Given the description of an element on the screen output the (x, y) to click on. 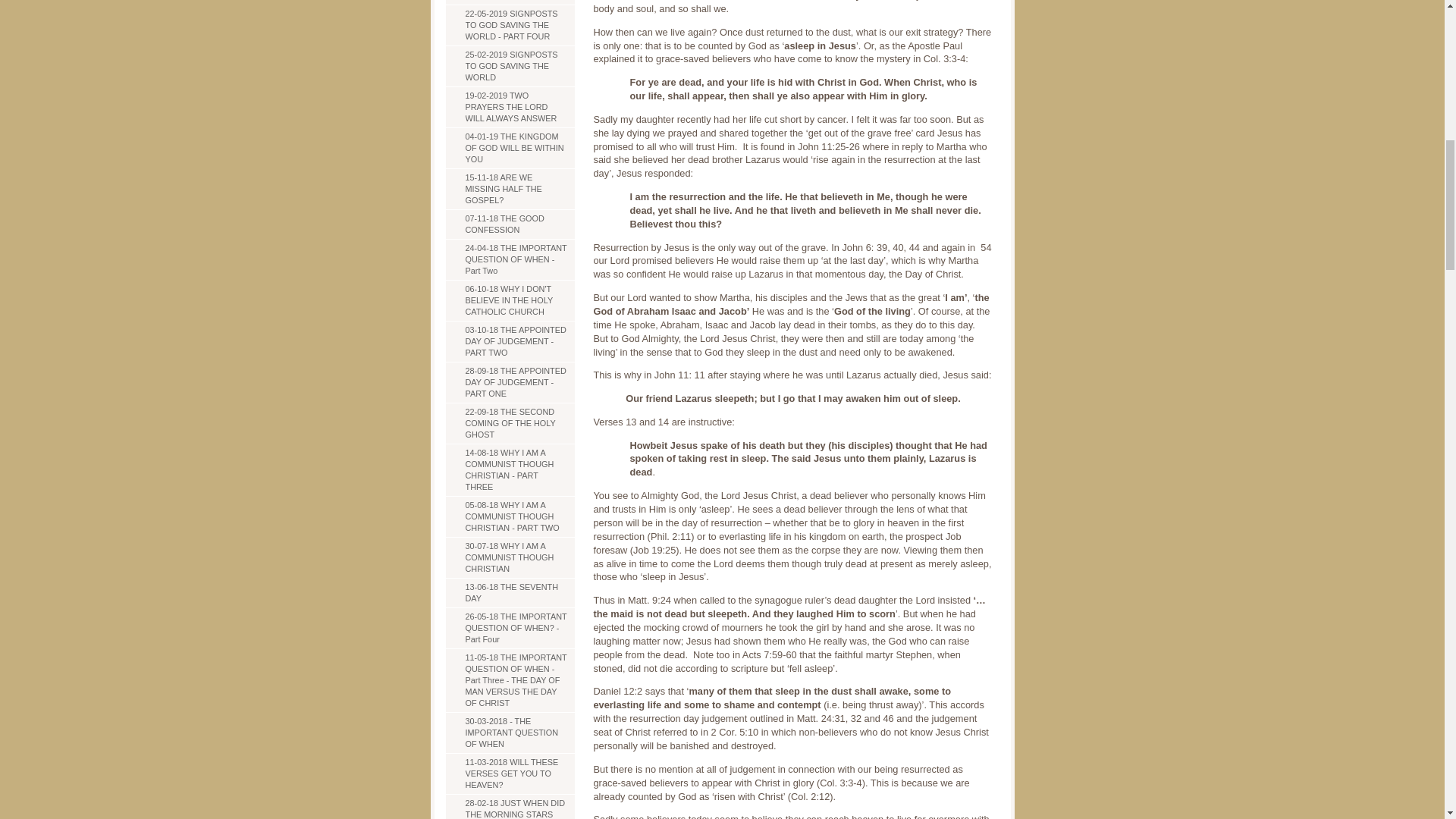
03-10-18 THE APPOINTED DAY OF JUDGEMENT - PART TWO (510, 341)
15-11-18 ARE WE MISSING HALF THE GOSPEL? (510, 188)
18-11-2018 HAVE WE FORGOTTEN HALF THE GOSPEL? (510, 2)
14-08-18 WHY I AM A COMMUNIST THOUGH CHRISTIAN - PART THREE (510, 470)
04-01-19 THE KINGDOM OF GOD WILL BE WITHIN YOU (510, 147)
22-05-2019 SIGNPOSTS TO GOD SAVING THE WORLD - PART FOUR (510, 24)
22-09-18 THE SECOND COMING OF THE HOLY GHOST (510, 423)
25-02-2019 SIGNPOSTS TO GOD SAVING THE WORLD (510, 65)
07-11-18 THE GOOD CONFESSION (510, 224)
05-08-18 WHY I AM A COMMUNIST THOUGH CHRISTIAN - PART TWO (510, 516)
